Given the description of an element on the screen output the (x, y) to click on. 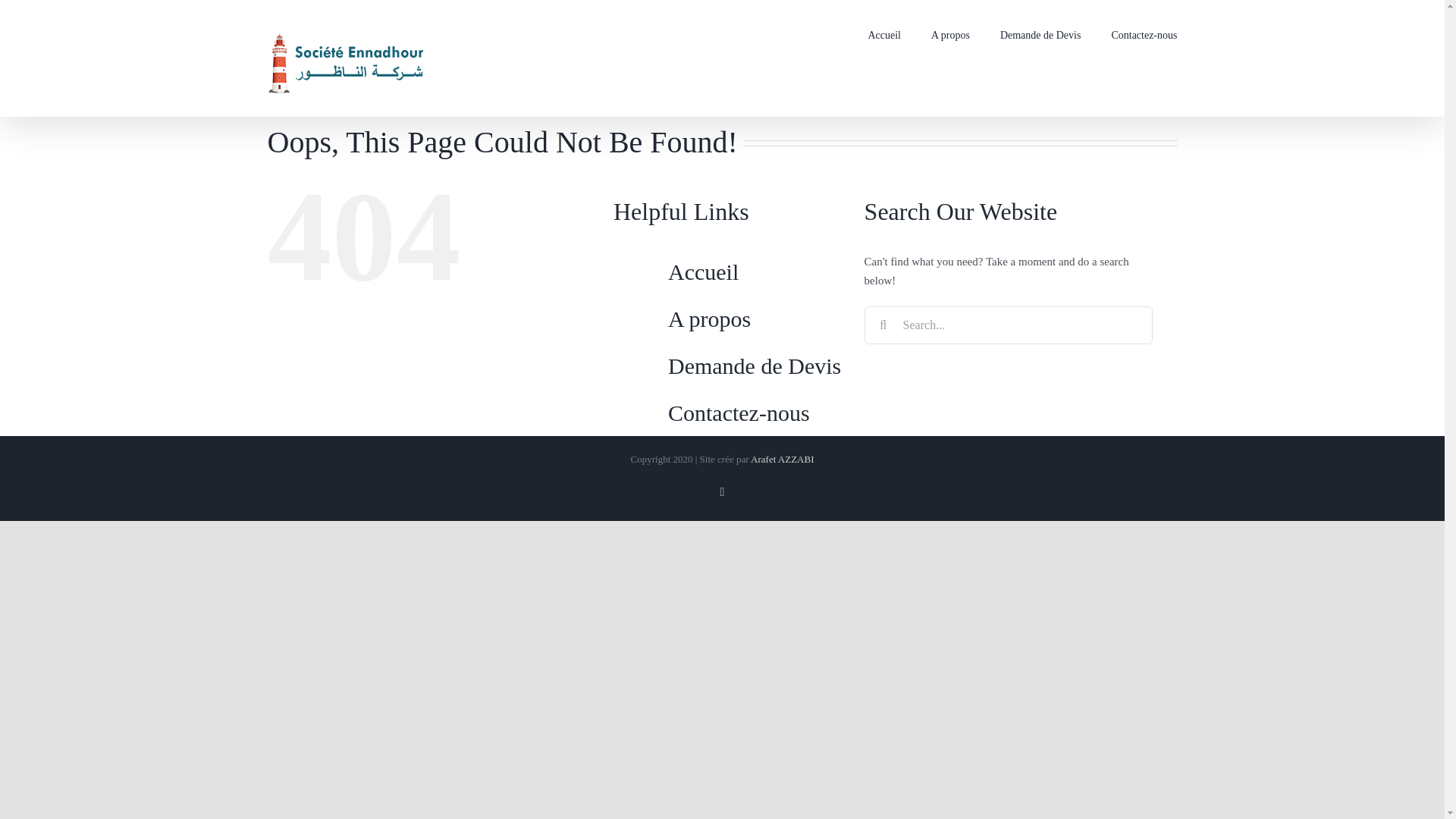
A propos (709, 318)
Demande de Devis (754, 365)
Contactez-nous (738, 412)
Demande de Devis (1040, 33)
Arafet AZZABI (782, 459)
Contactez-nous (1143, 33)
Accueil (703, 271)
